Given the description of an element on the screen output the (x, y) to click on. 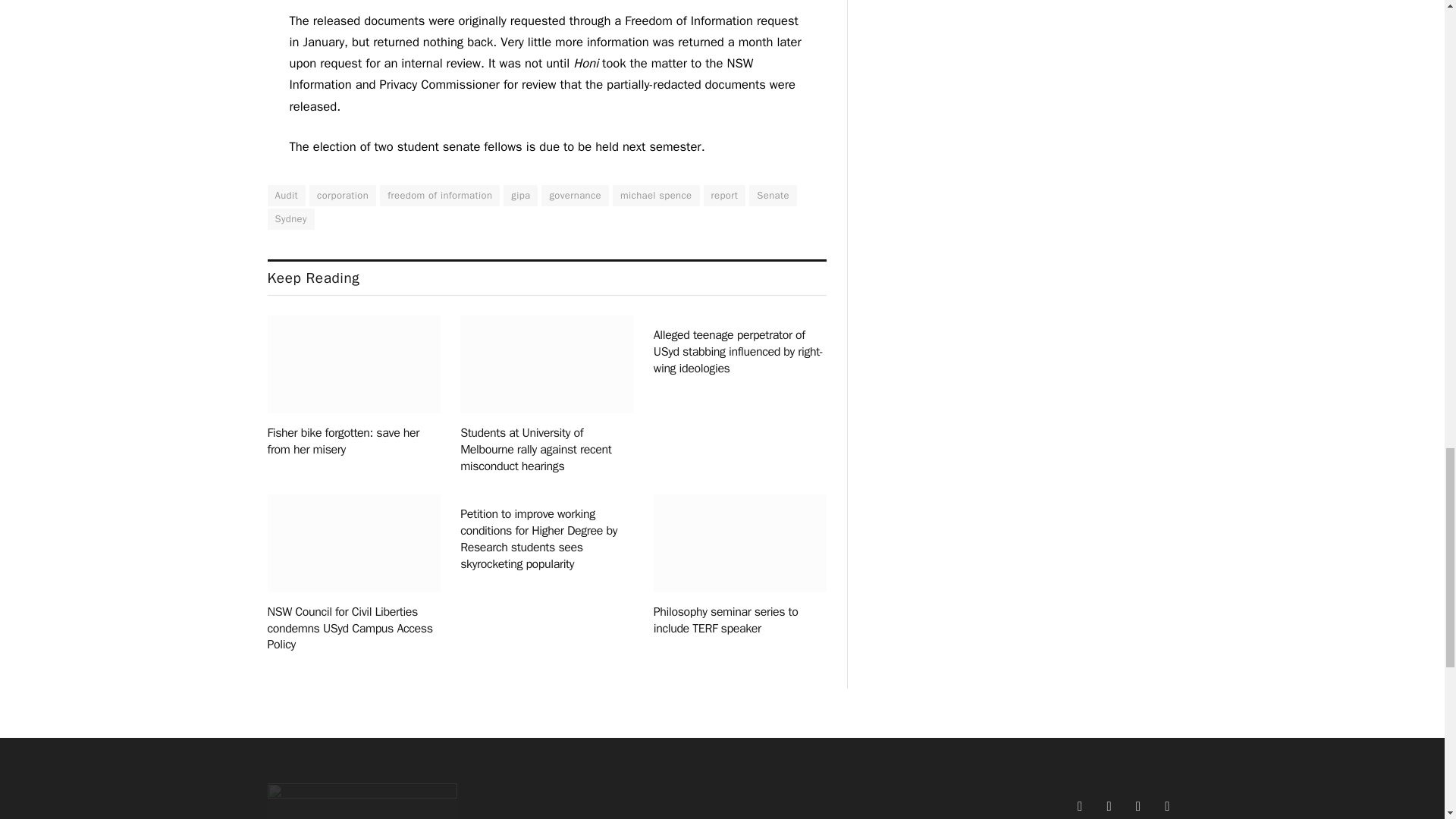
Philosophy seminar series to include TERF speaker (740, 543)
Fisher bike forgotten: save her from her misery (353, 364)
